Given the description of an element on the screen output the (x, y) to click on. 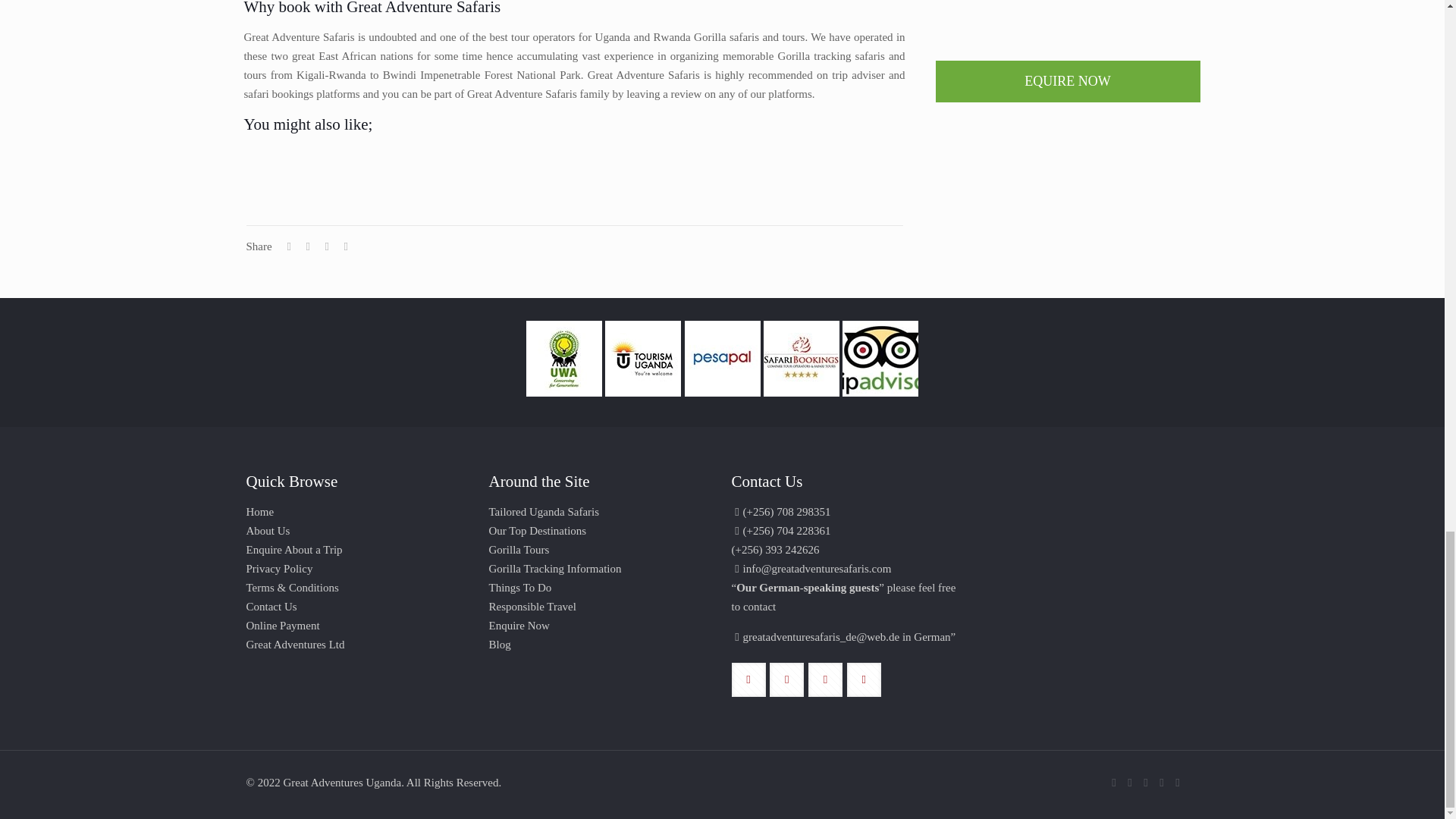
EQUIRE NOW (1067, 81)
Facebook (1129, 782)
Instagram (1161, 782)
WhatsApp (1113, 782)
